Given the description of an element on the screen output the (x, y) to click on. 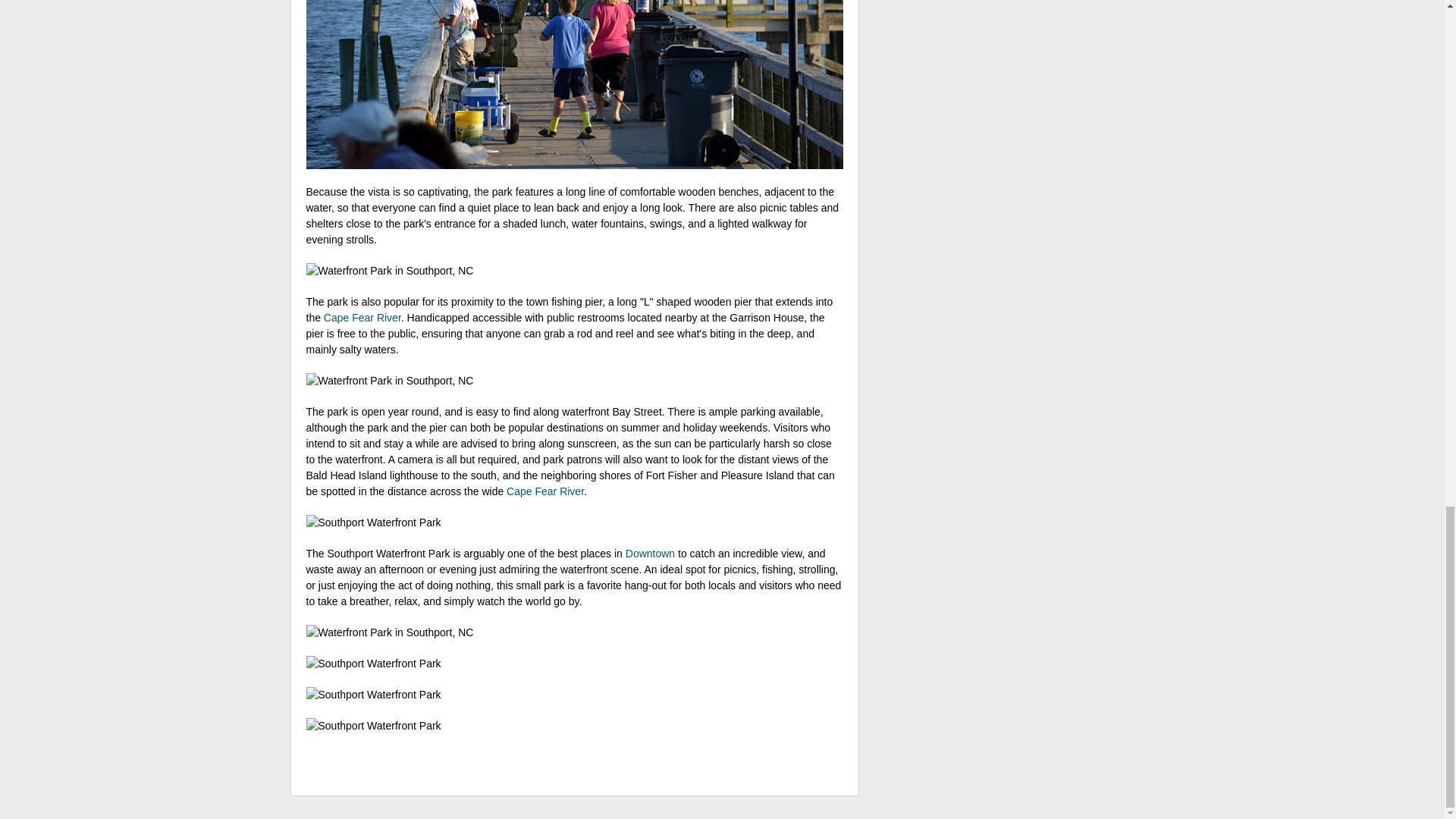
Downtown (650, 553)
Cape Fear River (362, 317)
Cape Fear River (544, 491)
